Given the description of an element on the screen output the (x, y) to click on. 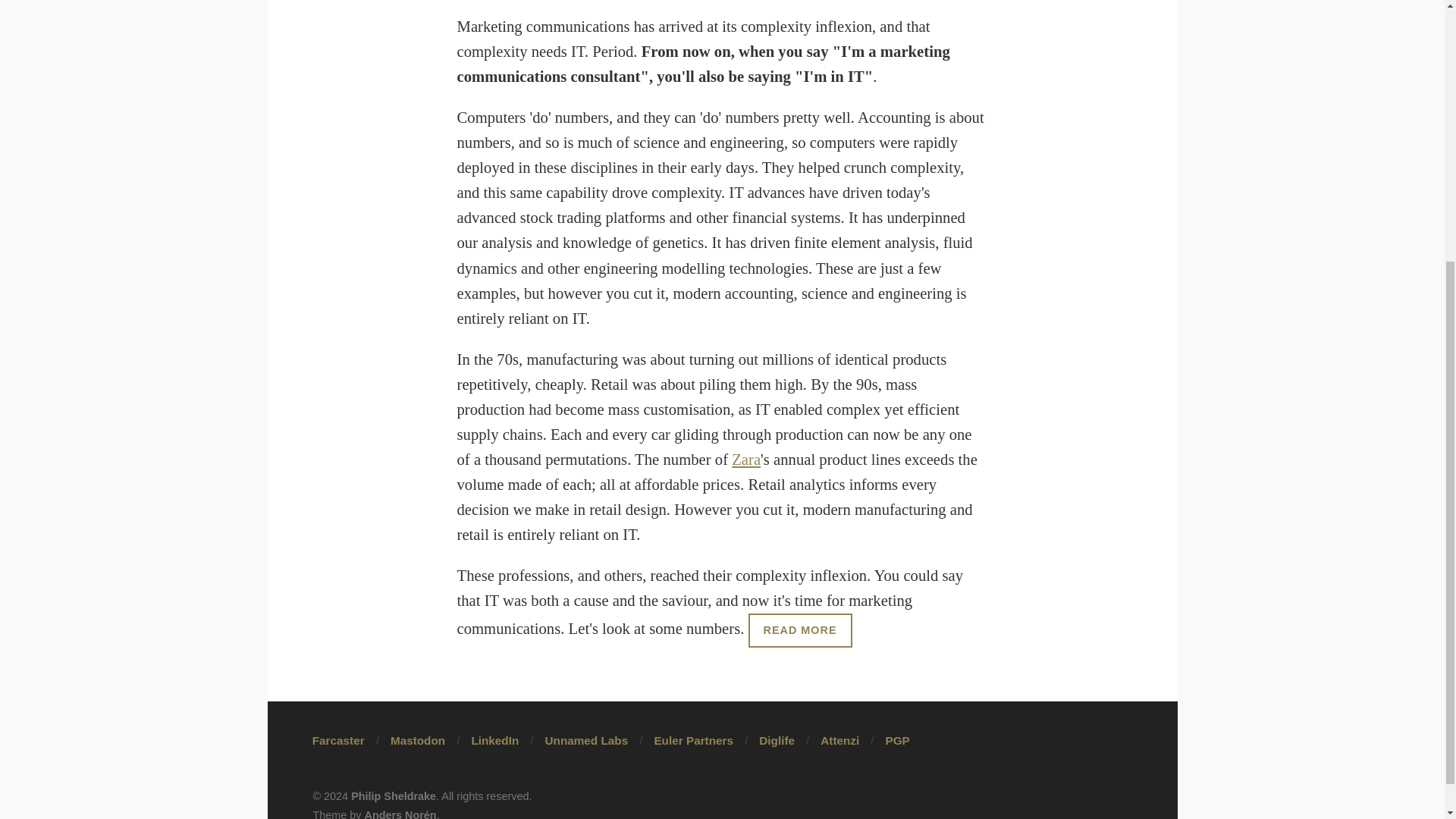
Mastodon (417, 739)
READ MORE (799, 630)
Farcaster (339, 739)
Attenzi (840, 739)
Euler Partners (693, 739)
LinkedIn (494, 739)
Zara (746, 459)
PGP (897, 739)
Unnamed Labs (586, 739)
Diglife (776, 739)
